Given the description of an element on the screen output the (x, y) to click on. 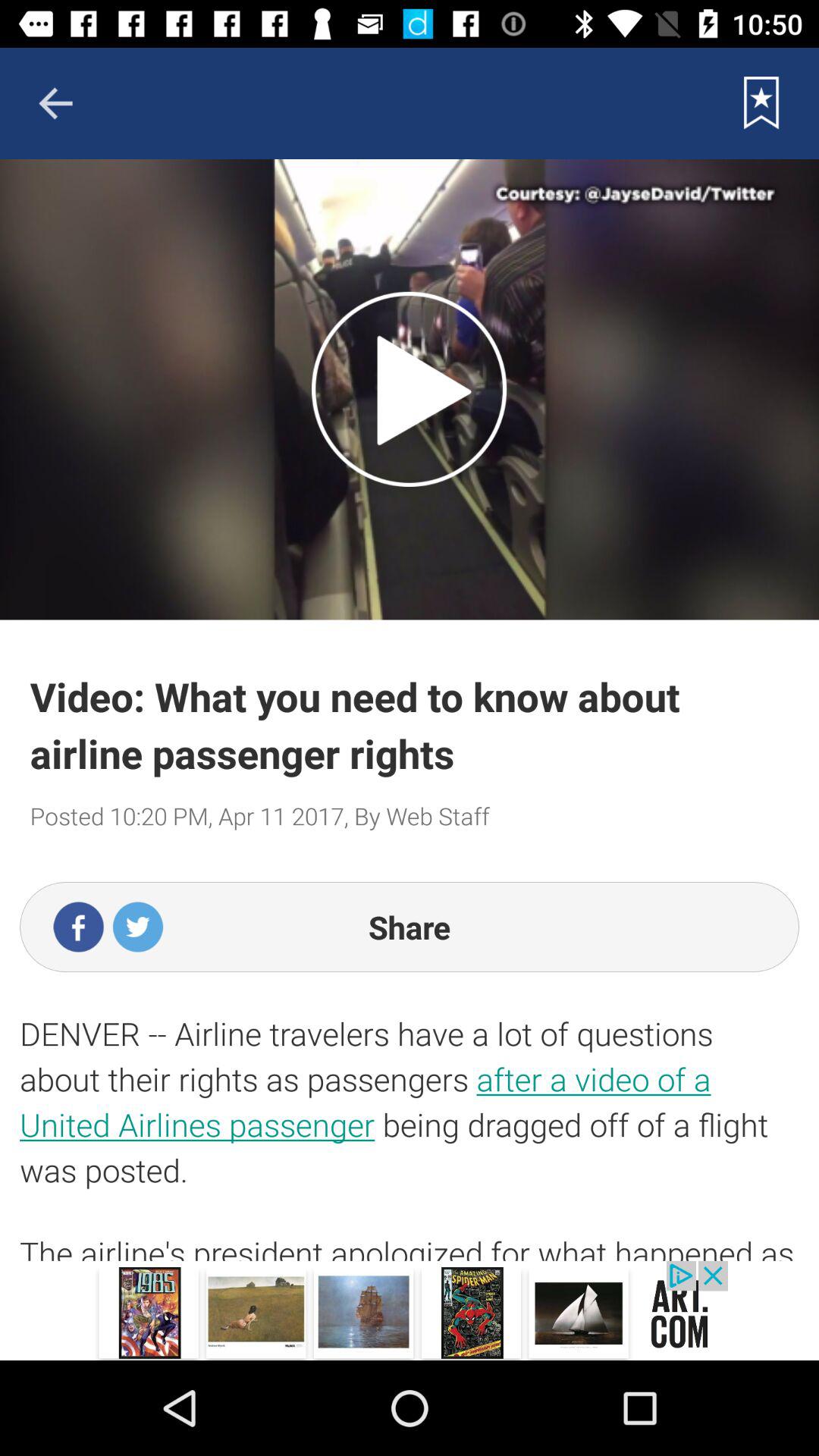
advertisement sponsored (409, 1310)
